Given the description of an element on the screen output the (x, y) to click on. 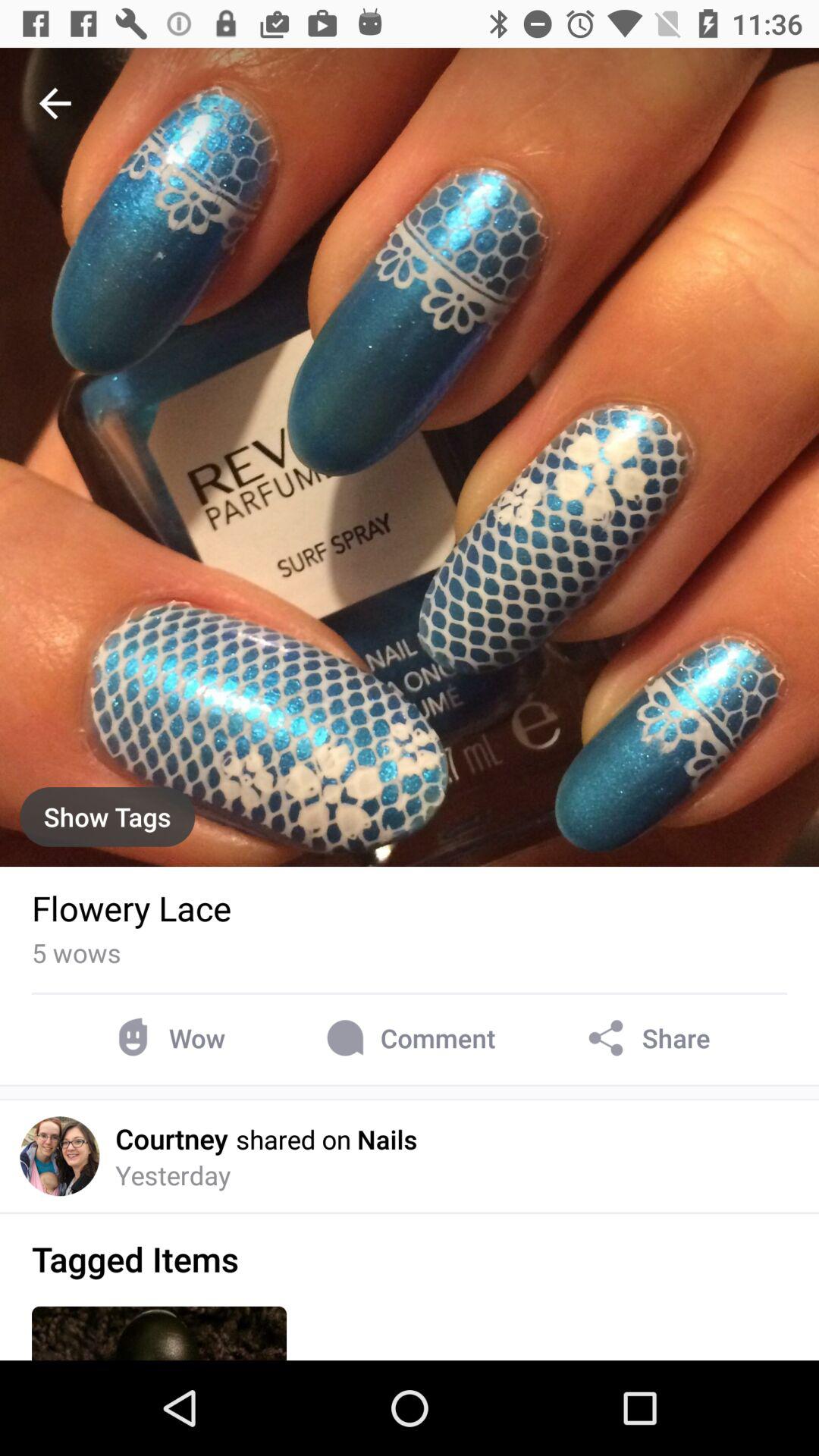
launch icon below the 5 wows (166, 1038)
